Given the description of an element on the screen output the (x, y) to click on. 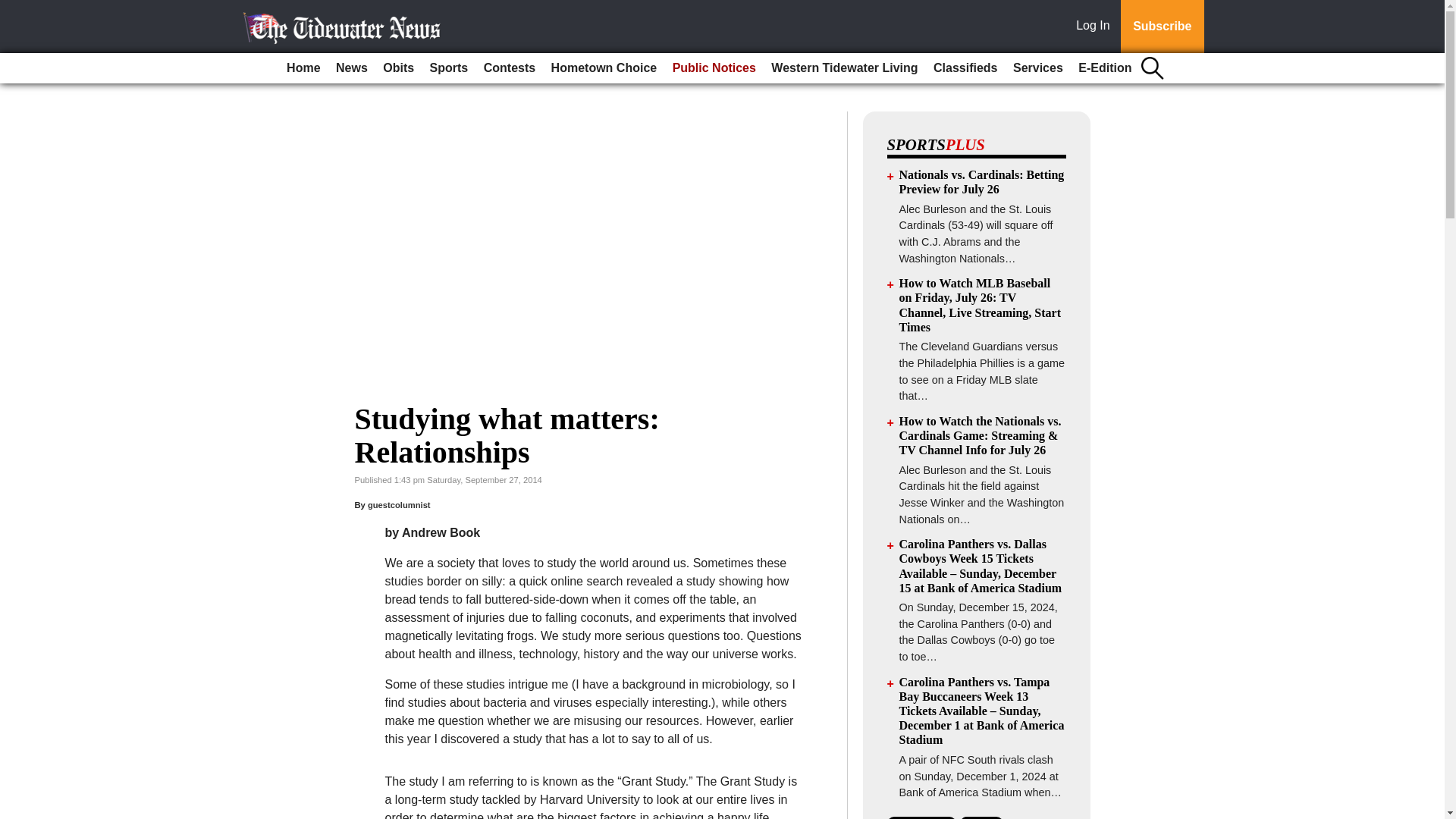
Hometown Choice (603, 68)
Go (13, 9)
News (352, 68)
Sports (448, 68)
Western Tidewater Living (844, 68)
Services (1037, 68)
Public Notices (713, 68)
guestcolumnist (399, 504)
Obits (398, 68)
E-Edition (1104, 68)
Subscribe (1162, 26)
Home (303, 68)
Classifieds (965, 68)
Log In (1095, 26)
Contests (509, 68)
